Given the description of an element on the screen output the (x, y) to click on. 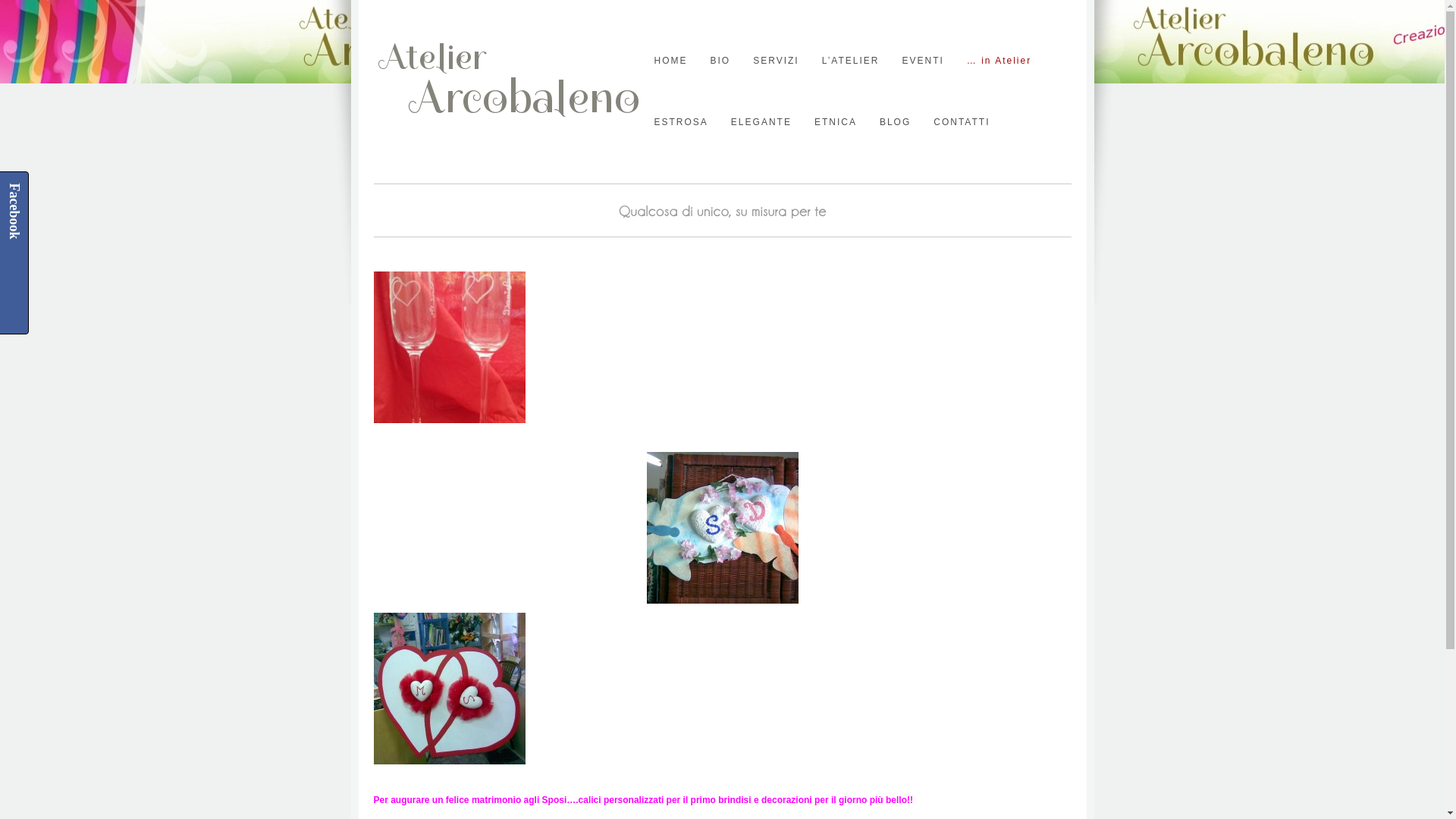
ETNICA Element type: text (835, 122)
CONTATTI Element type: text (961, 122)
SERVIZI Element type: text (775, 60)
BLOG Element type: text (894, 122)
ESTROSA Element type: text (680, 122)
Atelier Arcobaleno Element type: hover (509, 122)
BIO Element type: text (719, 60)
EVENTI Element type: text (922, 60)
HOME Element type: text (670, 60)
ELEGANTE Element type: text (761, 122)
